Given the description of an element on the screen output the (x, y) to click on. 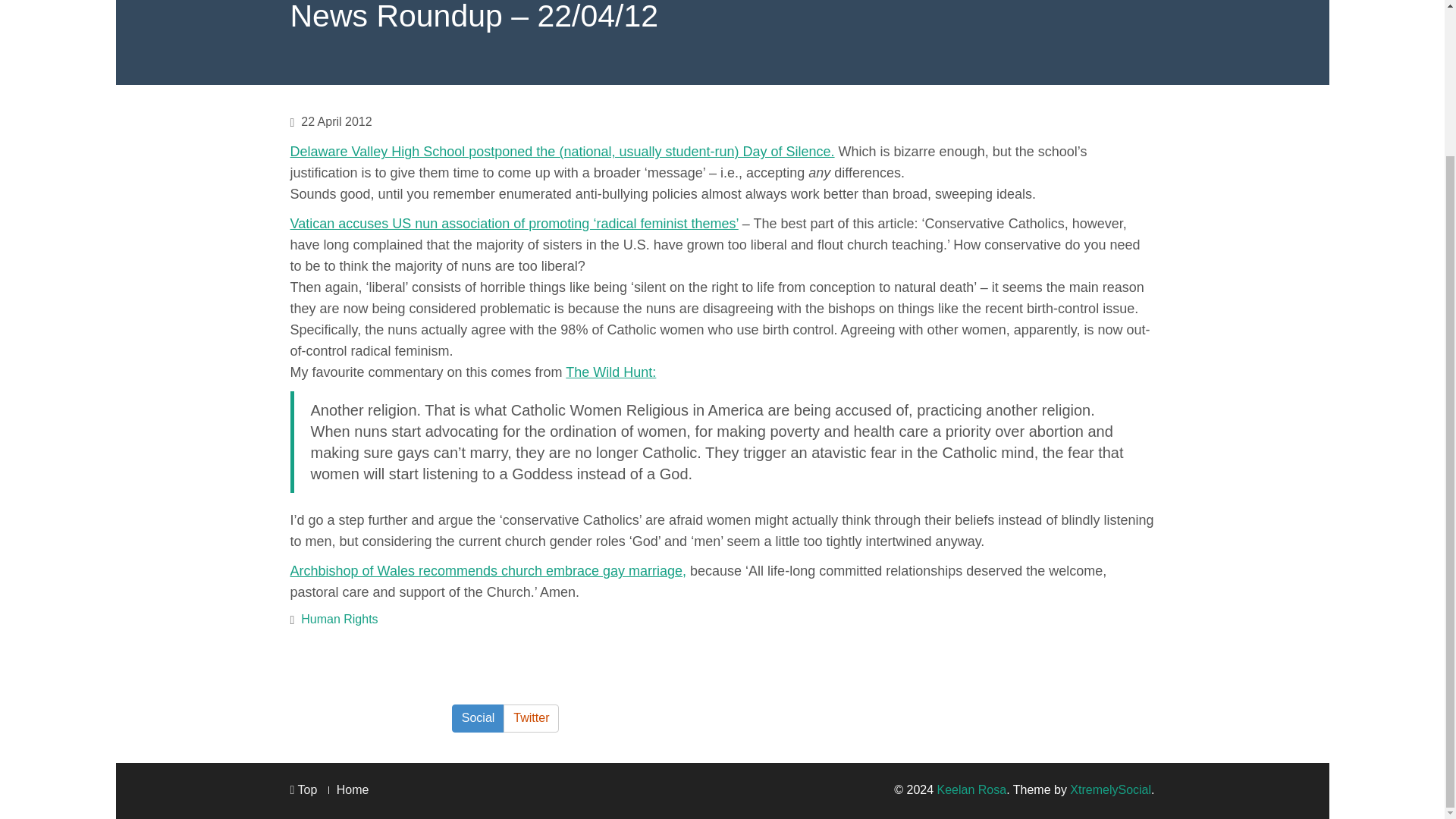
Home (352, 789)
Human Rights (339, 618)
Back to top of page (303, 789)
XtremelySocial (1110, 789)
Keelan Rosa (972, 789)
Home (352, 789)
Archbishop of Wales recommends church embrace gay marriage, (487, 570)
Top (303, 789)
Top (303, 789)
Twitter (531, 718)
The Wild Hunt: (611, 372)
